Given the description of an element on the screen output the (x, y) to click on. 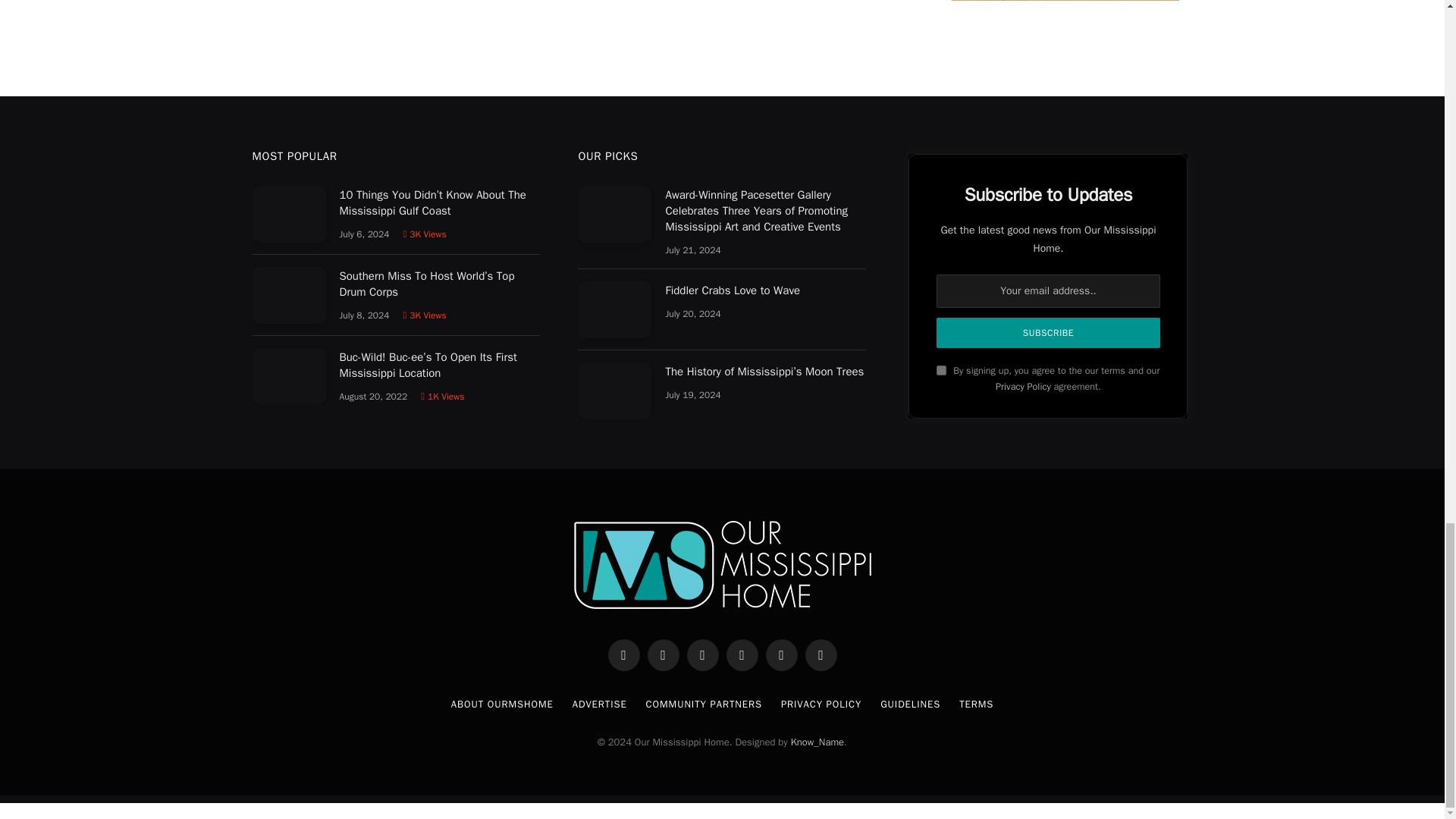
on (941, 370)
Subscribe (1047, 332)
